Given the description of an element on the screen output the (x, y) to click on. 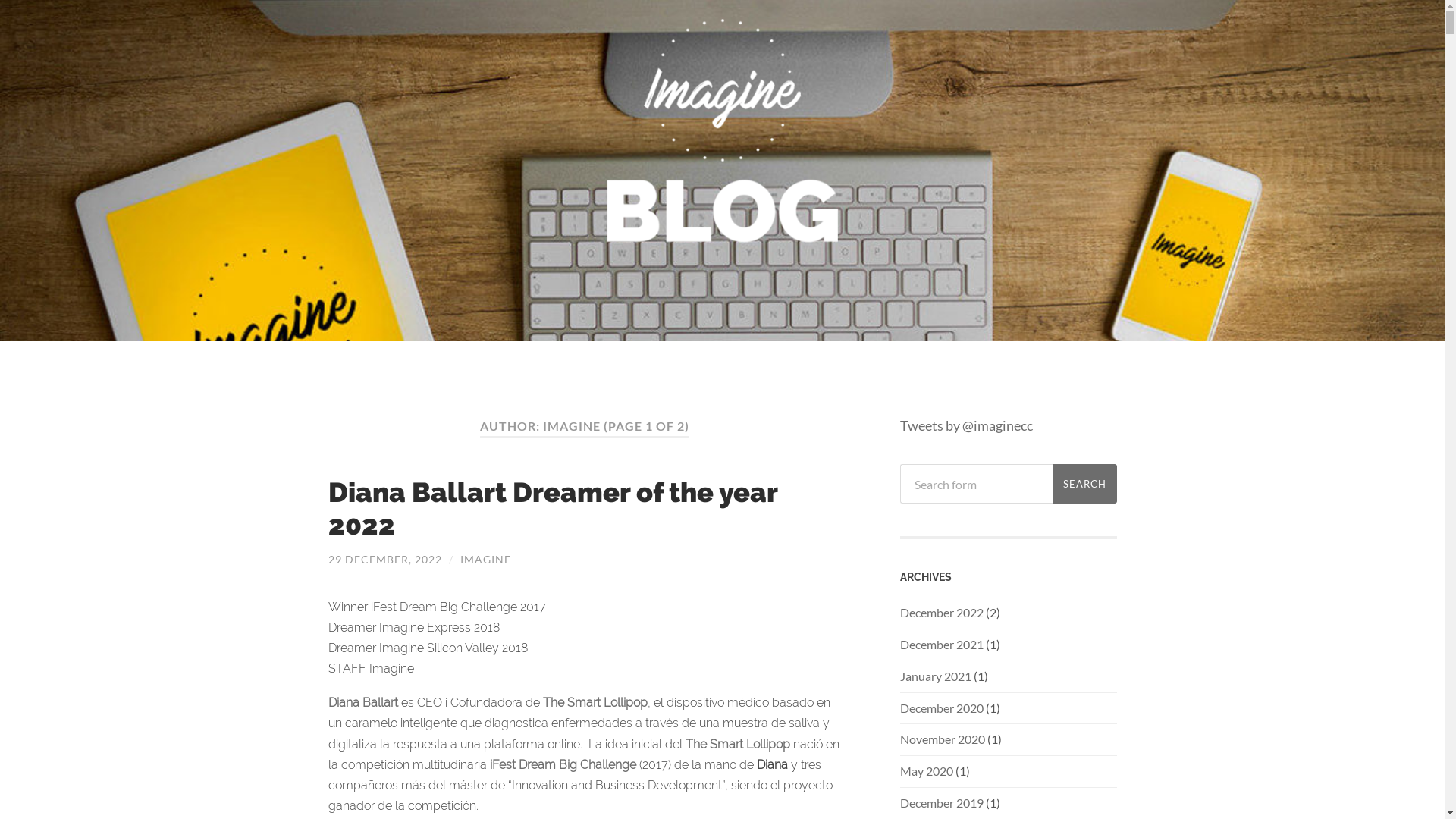
December 2020 Element type: text (940, 707)
May 2020 Element type: text (925, 770)
December 2022 Element type: text (940, 612)
The Smart Lollipop Element type: text (594, 702)
The Smart Lollipop Element type: text (737, 744)
December 2019 Element type: text (940, 802)
IMAGINE Element type: text (484, 558)
Tweets by @imaginecc Element type: text (965, 425)
January 2021 Element type: text (934, 675)
Diana Ballart Element type: text (362, 702)
iFest Dream Big Challenge Element type: text (562, 764)
Search Element type: text (1084, 483)
December 2021 Element type: text (940, 644)
November 2020 Element type: text (941, 738)
29 DECEMBER, 2022 Element type: text (384, 558)
Diana Ballart Dreamer of the year 2022 Element type: text (551, 508)
